Given the description of an element on the screen output the (x, y) to click on. 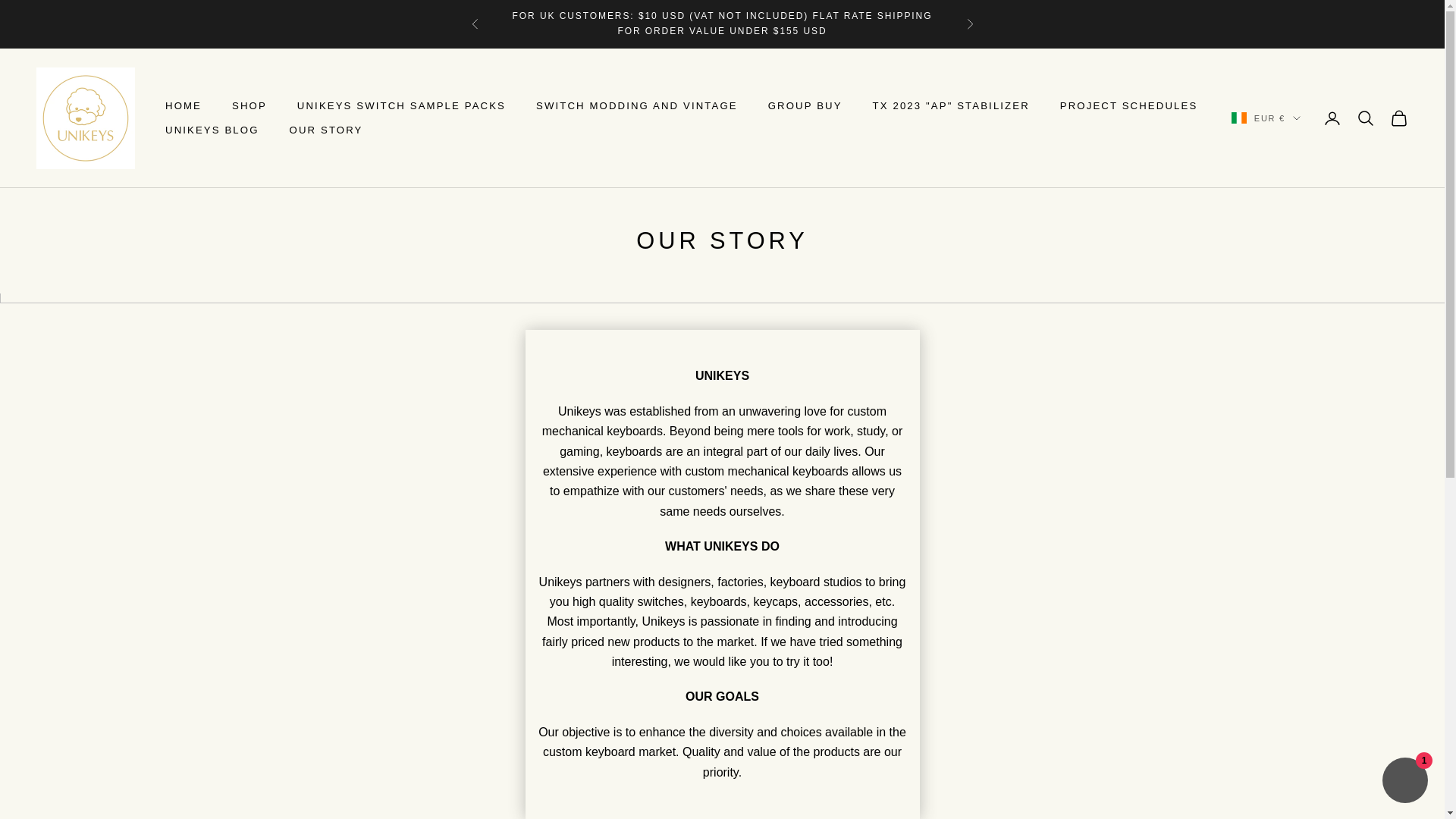
HOME (183, 105)
UniKeys (85, 117)
Shopify online store chat (1404, 781)
